Given the description of an element on the screen output the (x, y) to click on. 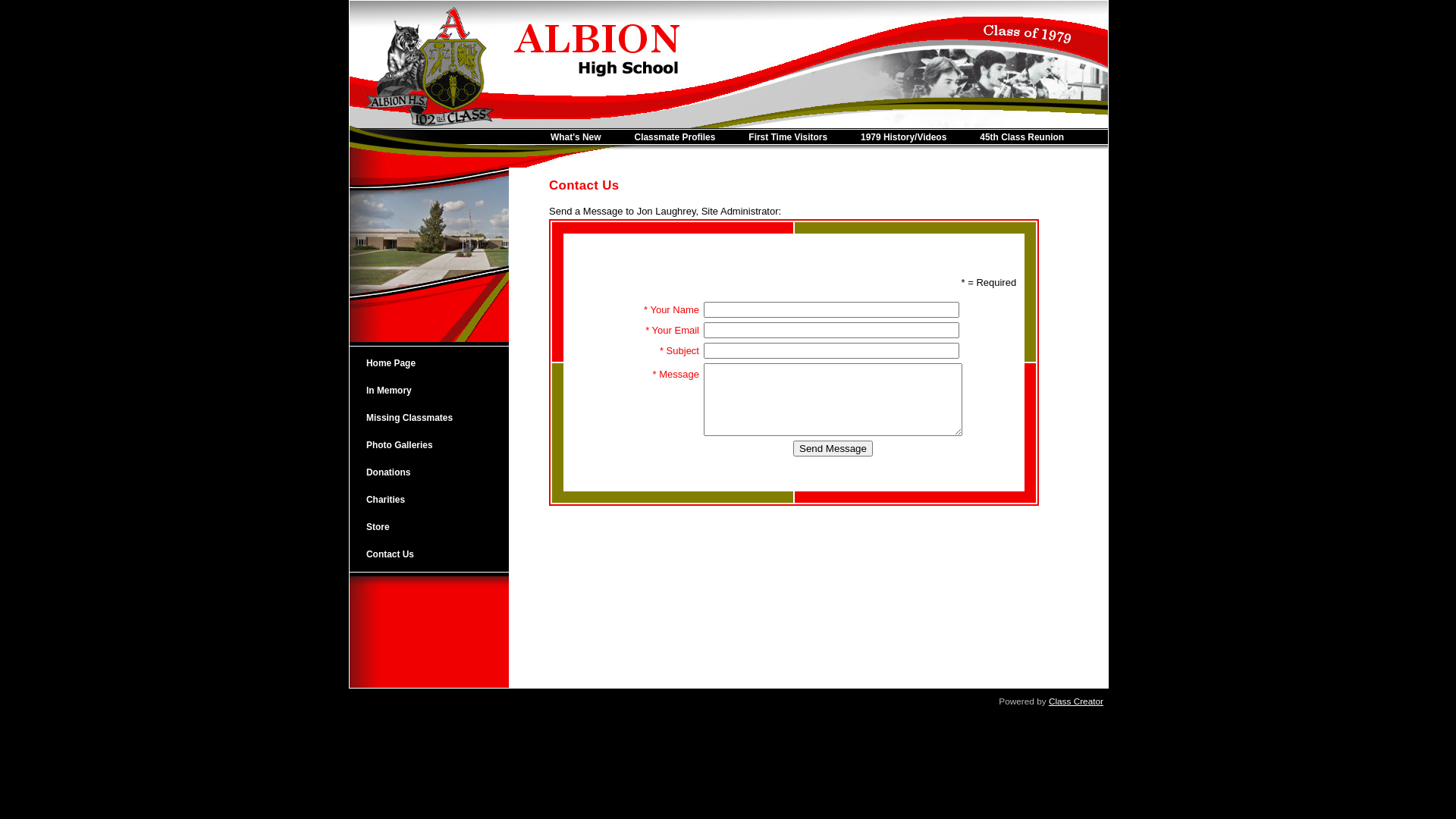
Missing Classmates Element type: text (423, 417)
What's New Element type: text (585, 137)
Class Creator Element type: text (1075, 701)
Classmate Profiles Element type: text (684, 137)
First Time Visitors Element type: text (797, 137)
Photo Galleries Element type: text (423, 444)
Send Message Element type: text (832, 448)
45th Class Reunion Element type: text (1030, 137)
Home Page Element type: text (423, 362)
In Memory Element type: text (423, 390)
Contact Us Element type: text (423, 553)
Store Element type: text (423, 526)
Donations Element type: text (423, 472)
1979 History/Videos Element type: text (912, 137)
Charities Element type: text (423, 499)
